Given the description of an element on the screen output the (x, y) to click on. 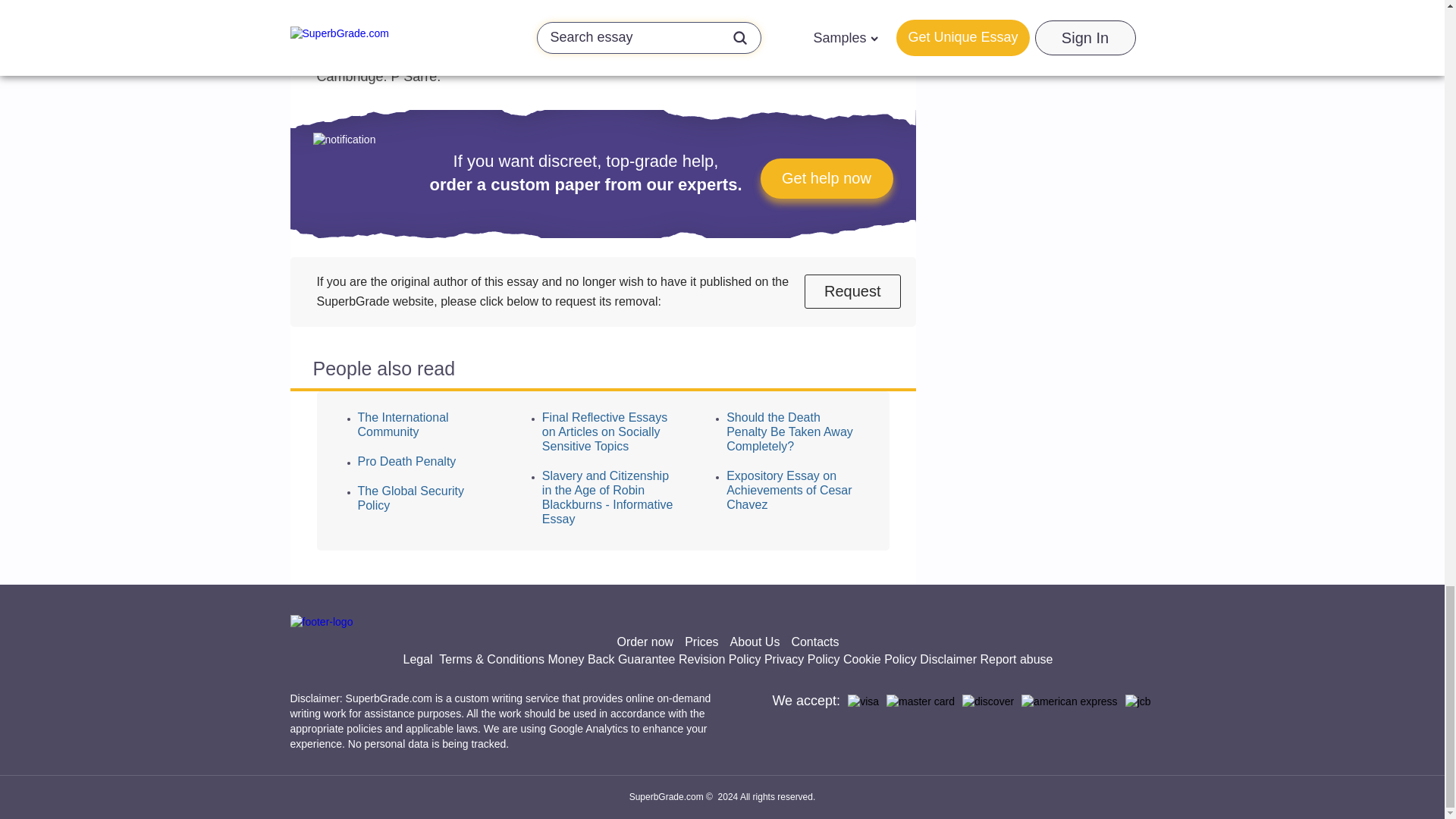
jcb (1138, 702)
visa (863, 702)
discover (987, 702)
american express (1070, 702)
master card (920, 702)
